Given the description of an element on the screen output the (x, y) to click on. 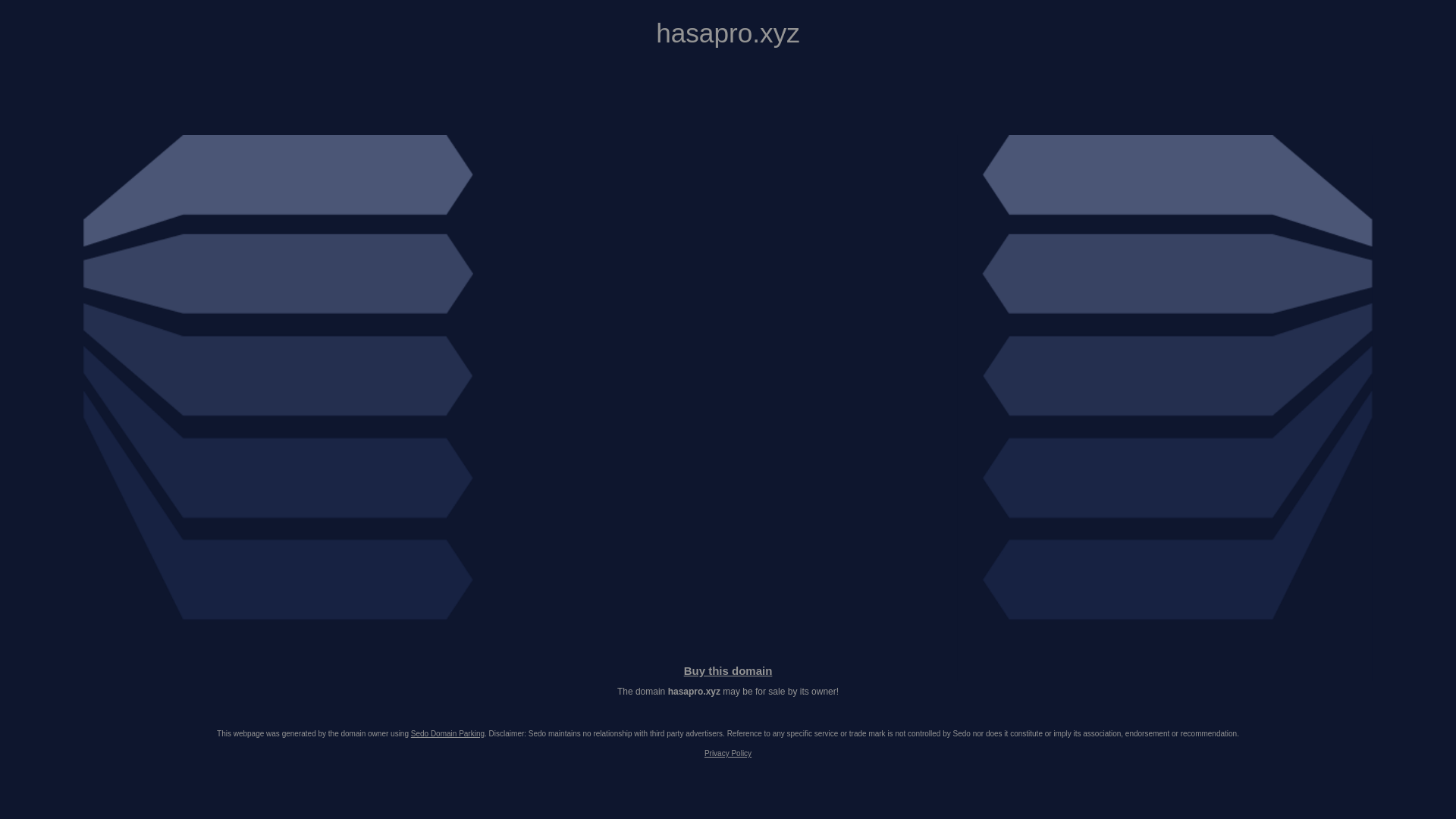
Sedo Domain Parking Element type: text (447, 733)
The domain hasapro.xyz may be for sale by its owner! Element type: text (727, 691)
Buy this domain Element type: text (728, 670)
Privacy Policy Element type: text (727, 753)
